Given the description of an element on the screen output the (x, y) to click on. 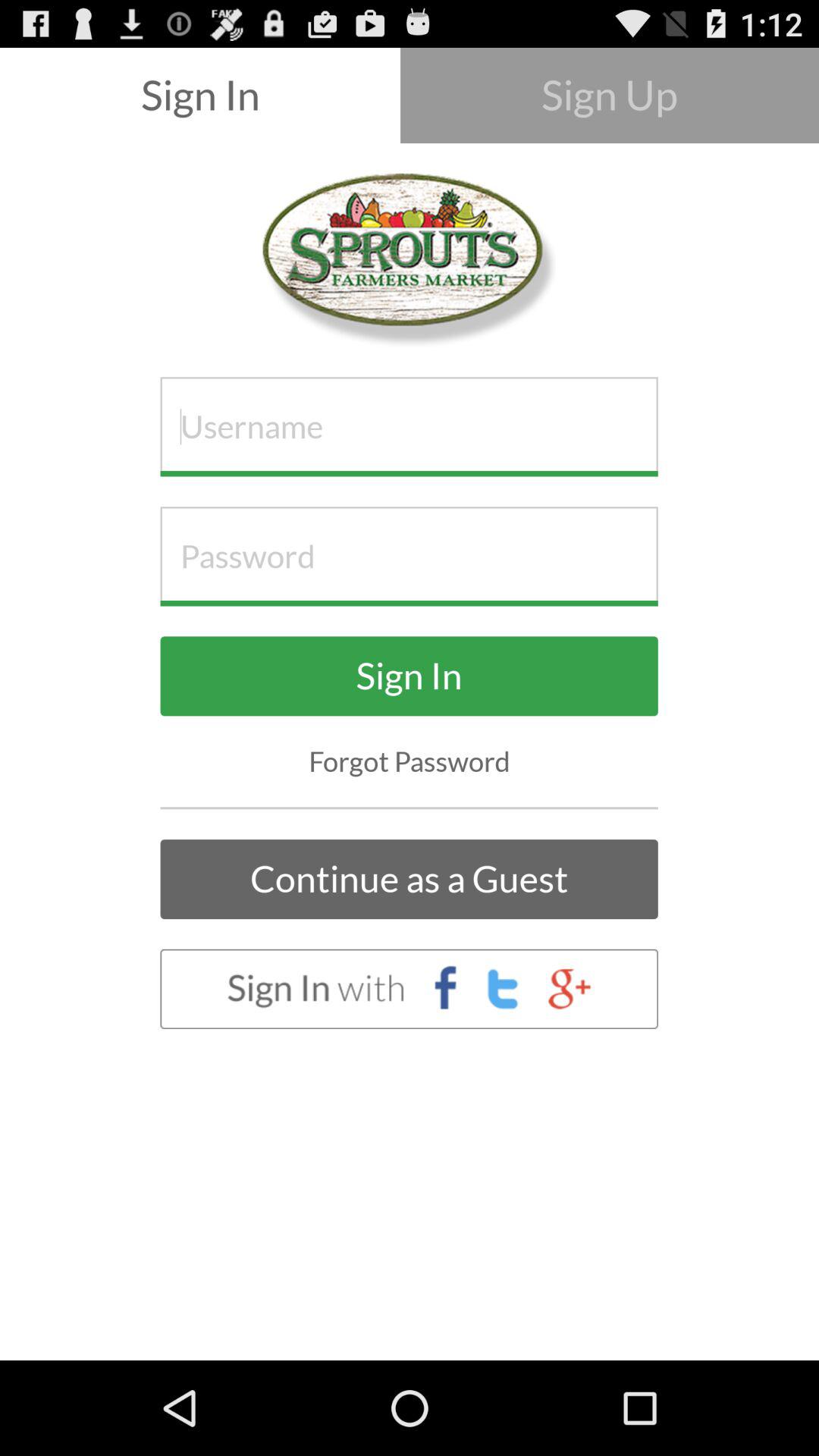
open the forgot password item (409, 761)
